Given the description of an element on the screen output the (x, y) to click on. 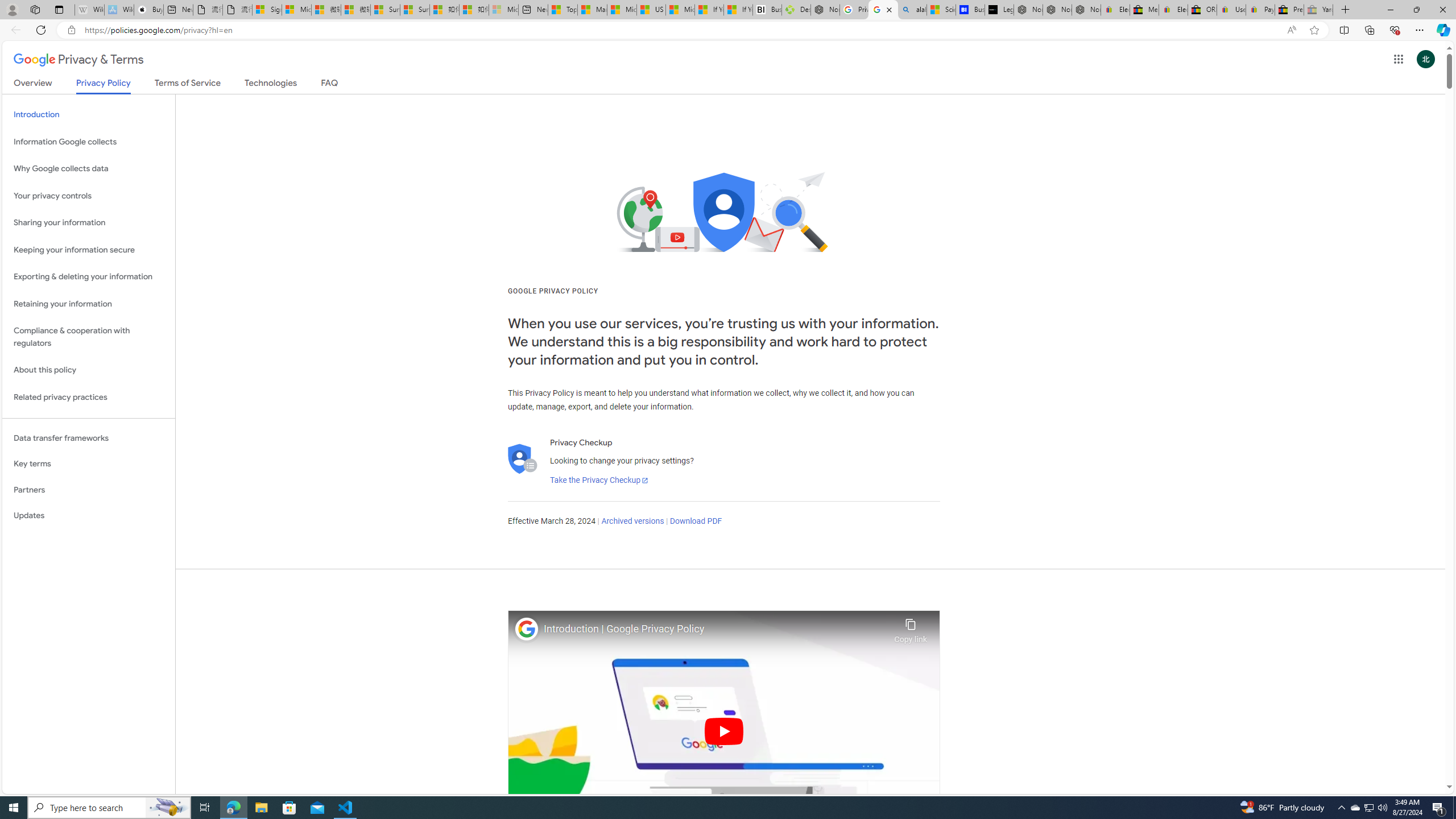
About this policy (88, 370)
Updates (88, 515)
Copy link (910, 627)
Sharing your information (88, 222)
Data transfer frameworks (88, 438)
Data transfer frameworks (88, 438)
Archived versions (632, 521)
Yard, Garden & Outdoor Living - Sleeping (1318, 9)
FAQ (328, 84)
